Given the description of an element on the screen output the (x, y) to click on. 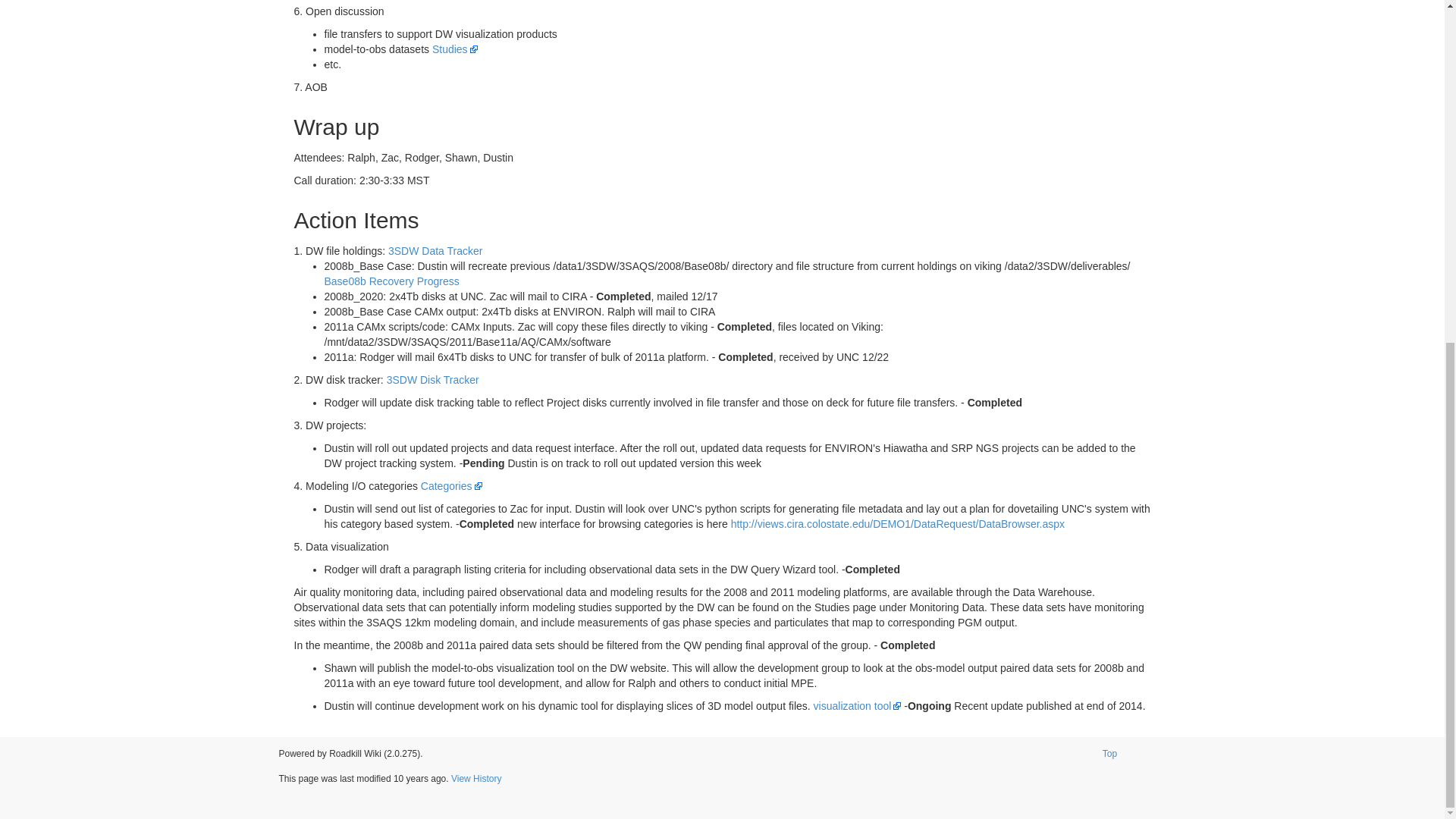
visualization tool (857, 705)
2015-01-08T18:33:12Z (419, 778)
3SDW Disk Tracker (433, 379)
Top (1109, 753)
Studies (454, 49)
Base08b Recovery Progress (392, 281)
3SDW Data Tracker (434, 250)
View History (475, 778)
Categories (450, 485)
